Given the description of an element on the screen output the (x, y) to click on. 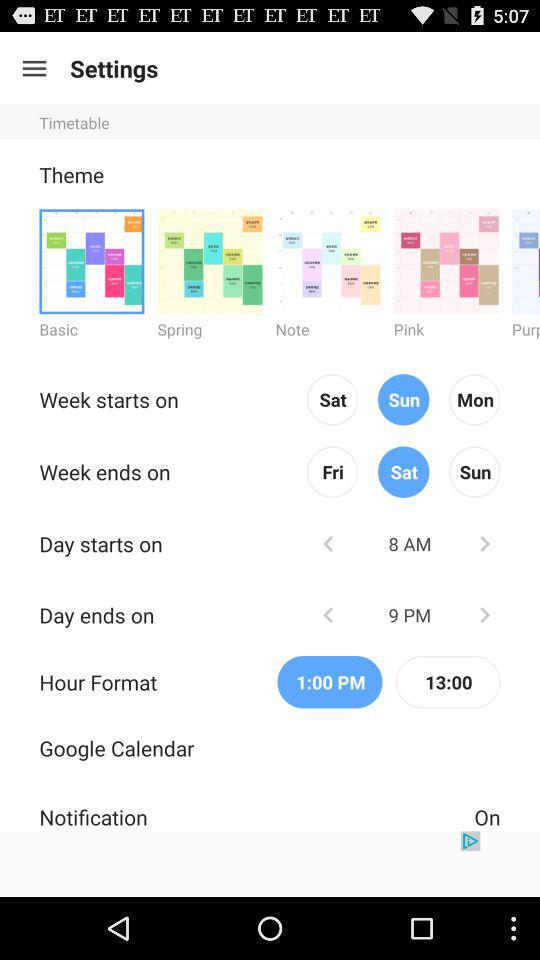
more (445, 260)
